Given the description of an element on the screen output the (x, y) to click on. 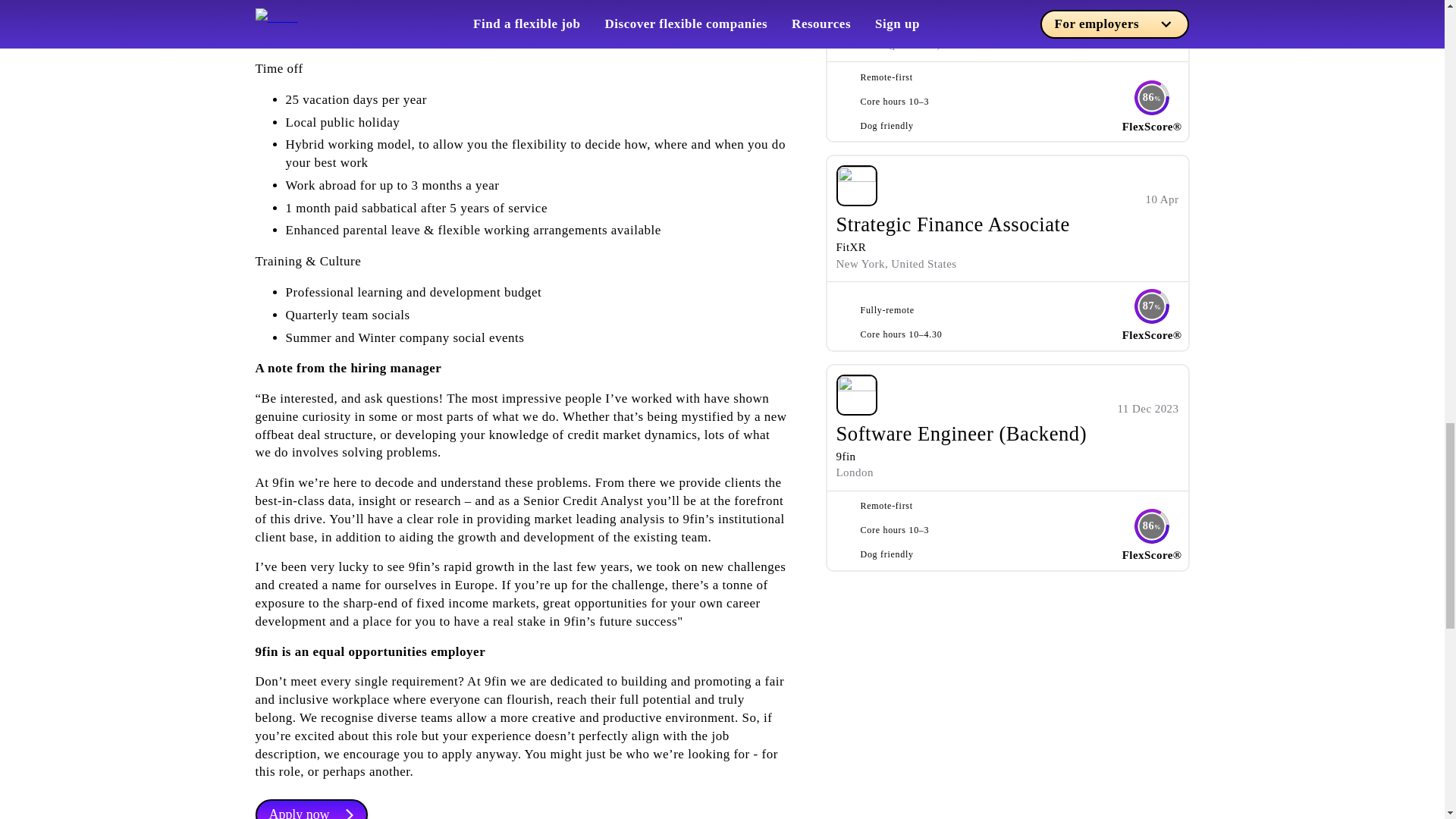
FitXR (850, 246)
Director of Marketing (928, 8)
Apply now (310, 809)
9fin (845, 456)
Strategic Finance Associate (951, 223)
9fin (845, 28)
